Given the description of an element on the screen output the (x, y) to click on. 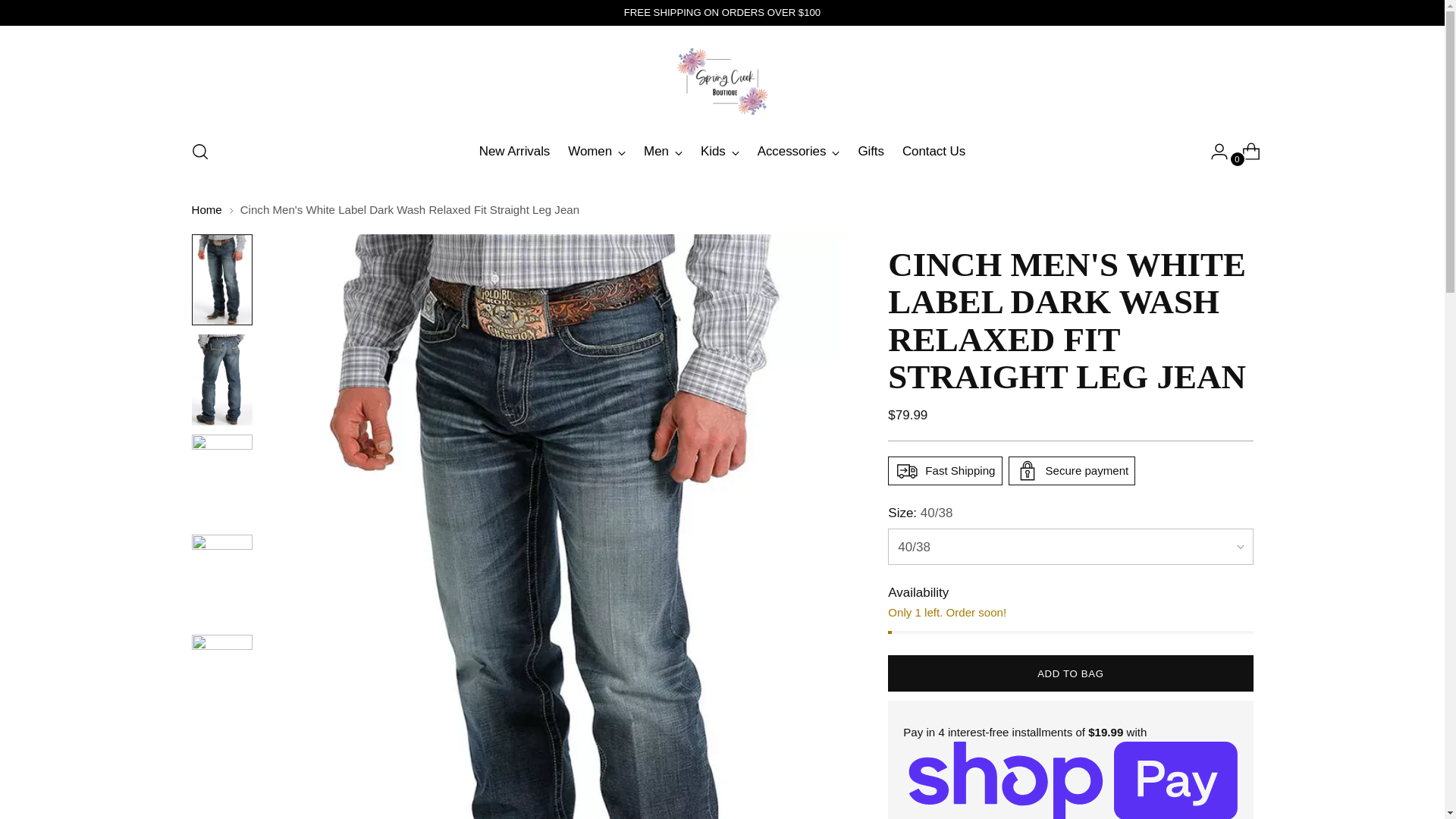
New Arrivals (514, 151)
Women (596, 151)
0 (1245, 151)
Contact Us (933, 151)
Men (662, 151)
Accessories (798, 151)
Kids (719, 151)
